Given the description of an element on the screen output the (x, y) to click on. 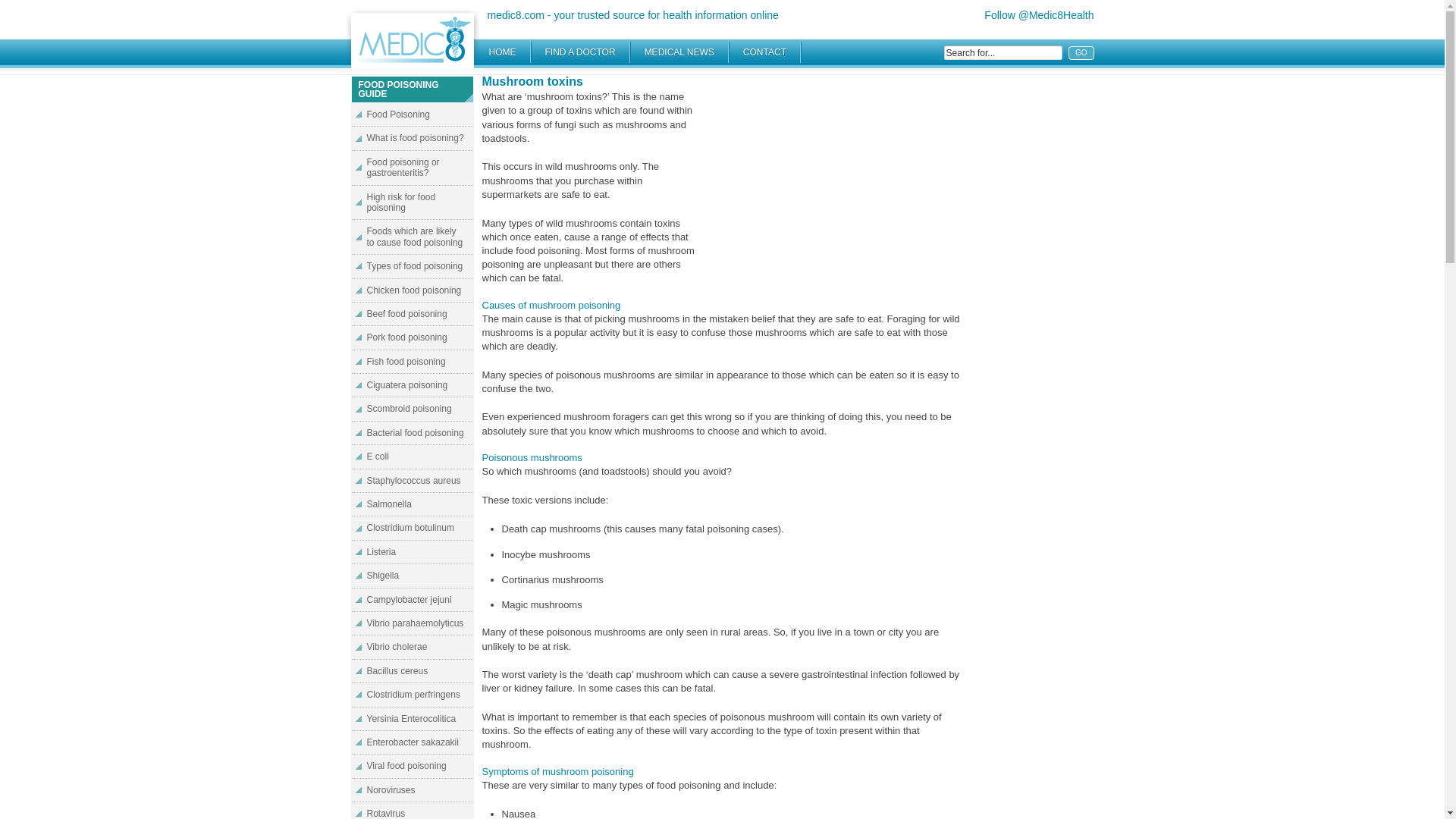
High risk for food poisoning  (412, 202)
E coli  (412, 456)
Pork food poisoning  (412, 336)
Clostridium botulinum  (412, 527)
Vibrio parahaemolyticus (412, 622)
Ciguatera poisoning  (412, 236)
Listeria  (412, 384)
Food poisoning or gastroenteritis? (412, 551)
Search for... (412, 167)
